Given the description of an element on the screen output the (x, y) to click on. 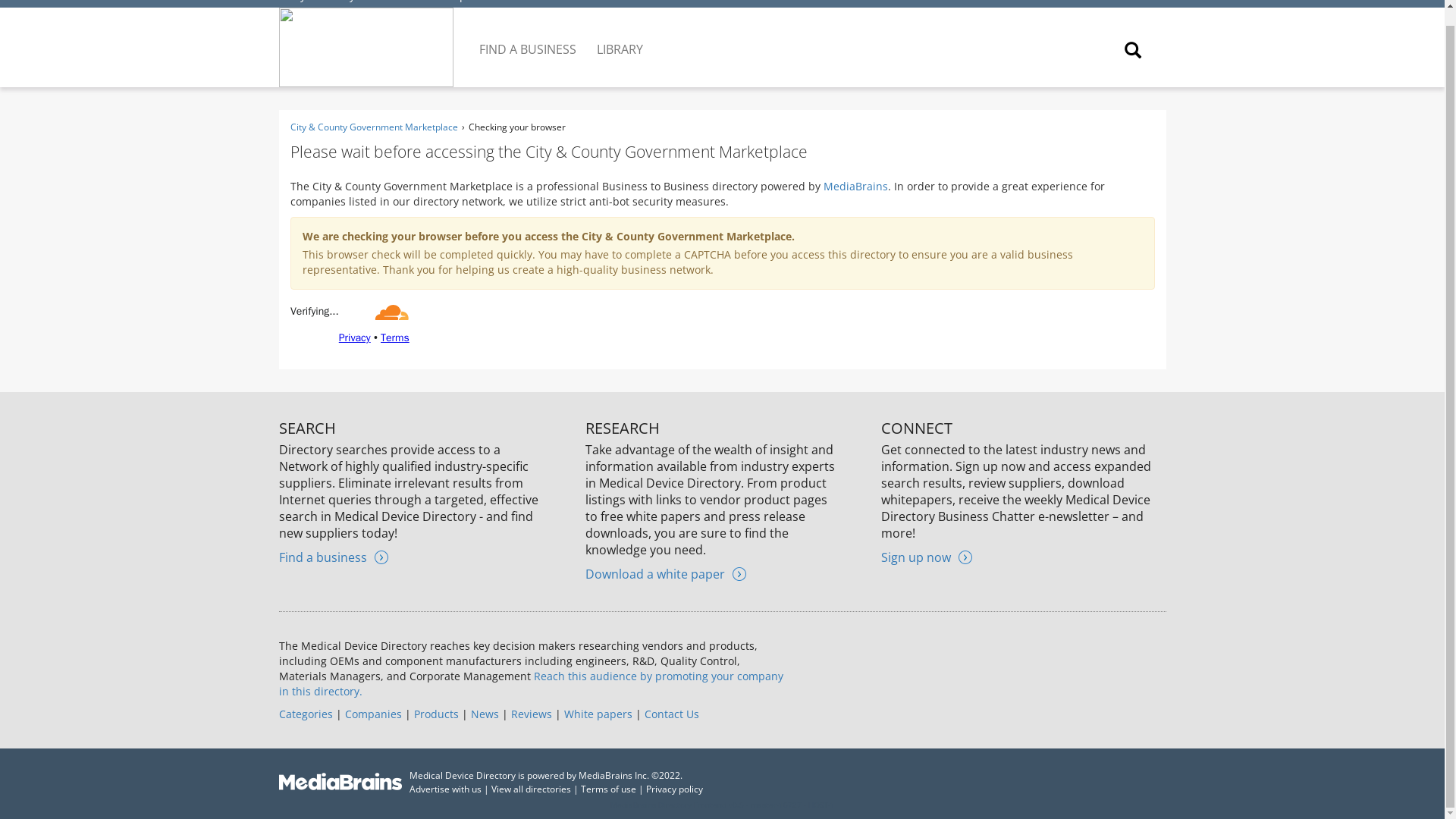
Sign up now (926, 556)
White papers (597, 713)
Advertise with us (445, 788)
Terms of use (608, 788)
Reviews (531, 713)
FIND A BUSINESS (528, 37)
Products (435, 713)
View all directories (531, 788)
LIBRARY (620, 37)
News (483, 713)
MediaBrains (856, 186)
Find a business (333, 556)
Contact Us (671, 713)
Privacy policy (674, 788)
